Given the description of an element on the screen output the (x, y) to click on. 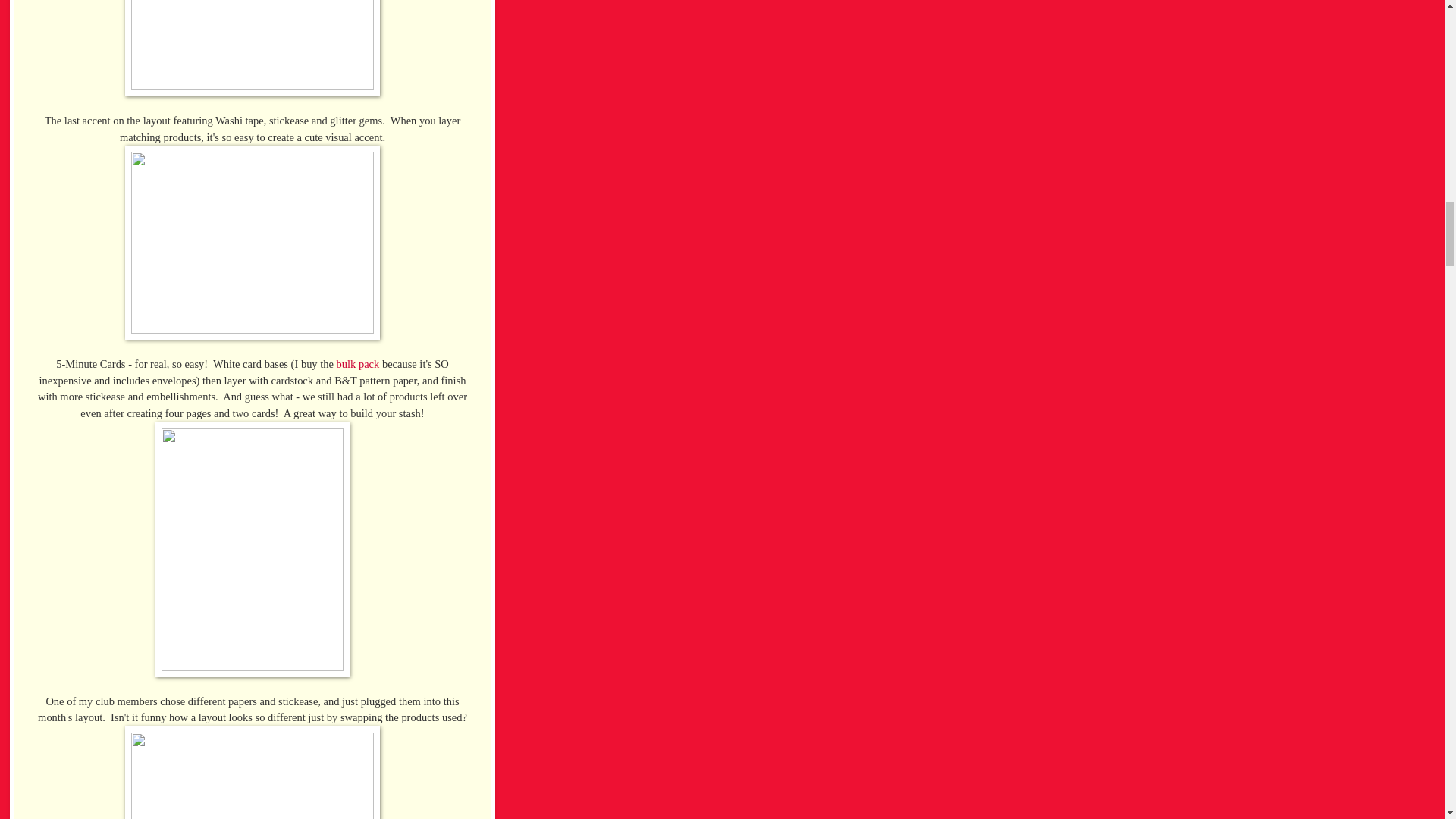
bulk pack (358, 363)
